Given the description of an element on the screen output the (x, y) to click on. 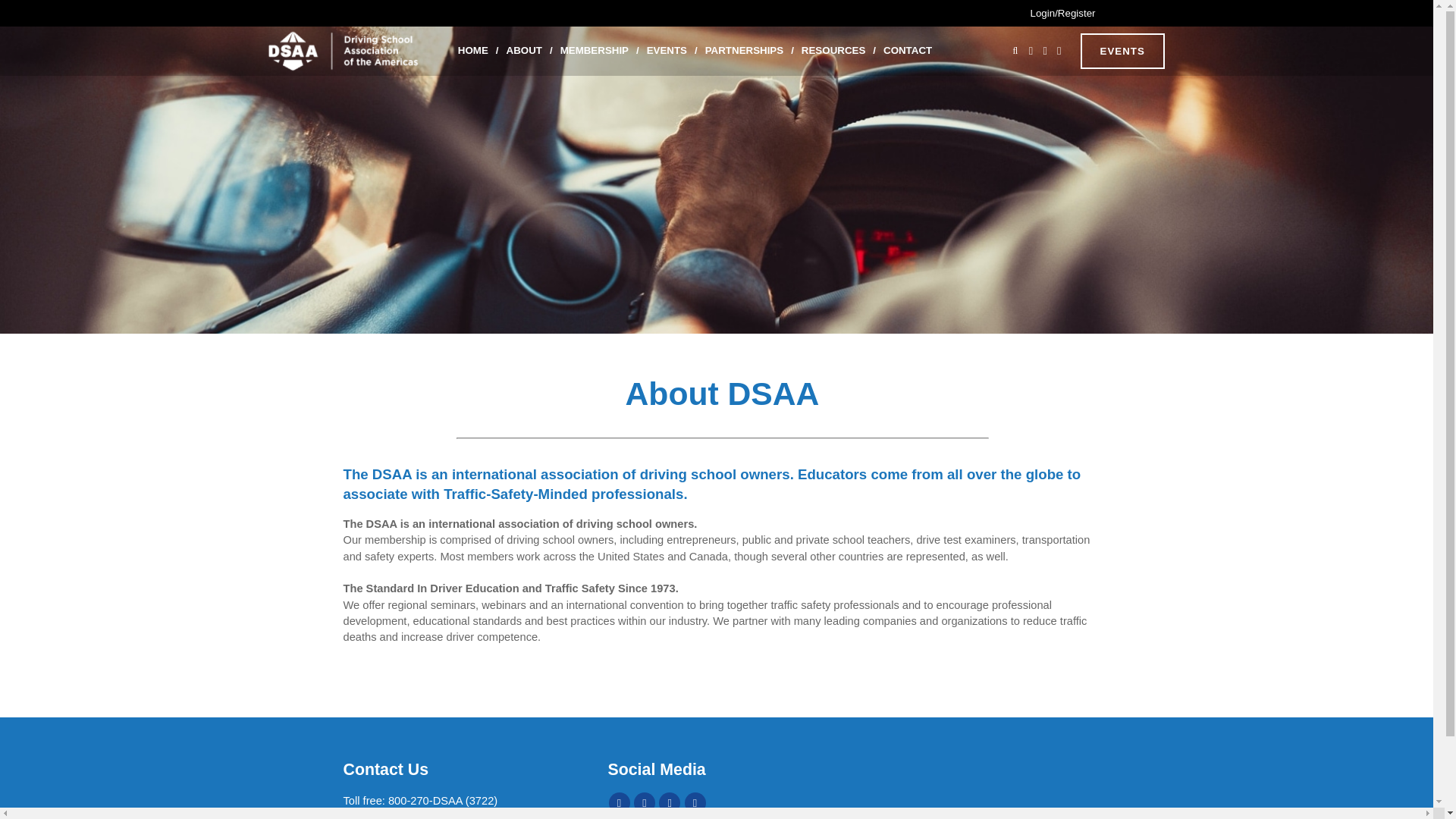
ABOUT (524, 51)
PARTNERSHIPS (743, 51)
MEMBERSHIP (594, 51)
HOME (472, 51)
CONTACT (907, 51)
RESOURCES (832, 51)
EVENTS (666, 51)
